Given the description of an element on the screen output the (x, y) to click on. 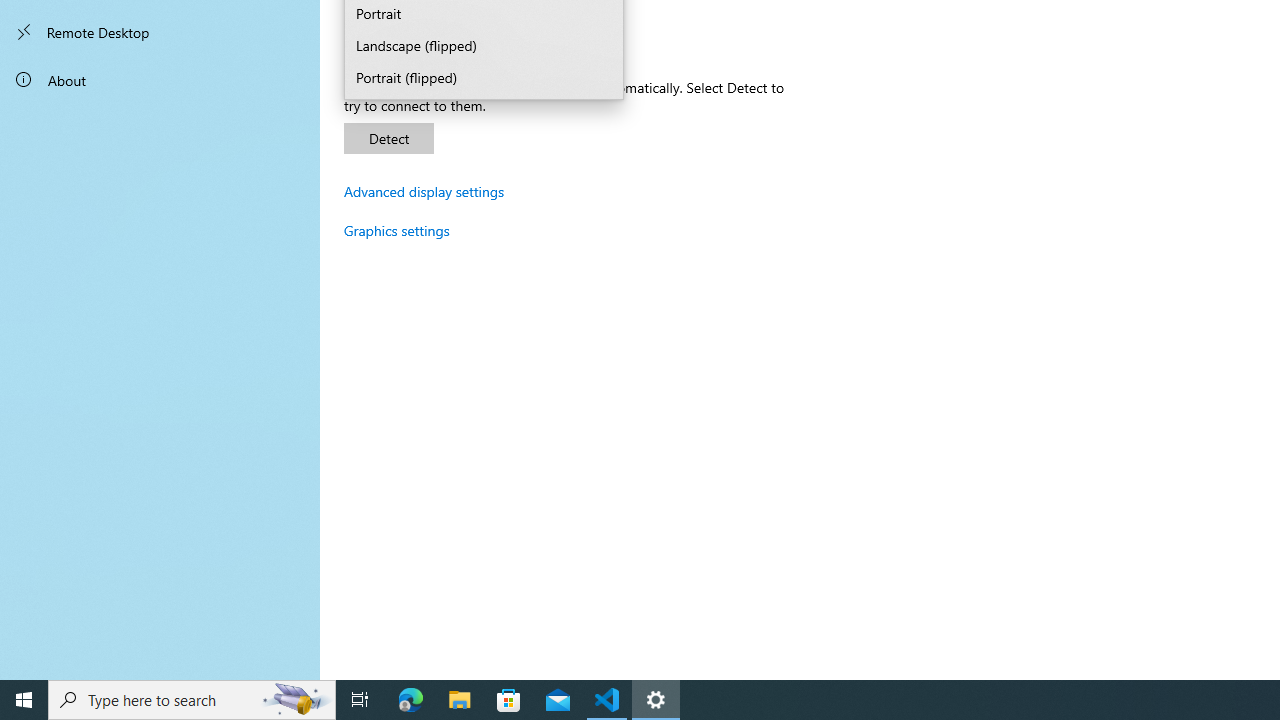
About (160, 79)
Microsoft Edge (411, 699)
File Explorer (460, 699)
Detect (388, 138)
Task View (359, 699)
Microsoft Store (509, 699)
Remote Desktop (160, 31)
Start (24, 699)
Search highlights icon opens search home window (295, 699)
Portrait (flipped) (484, 79)
Type here to search (191, 699)
Visual Studio Code - 1 running window (607, 699)
Advanced display settings (424, 191)
Settings - 1 running window (656, 699)
